Given the description of an element on the screen output the (x, y) to click on. 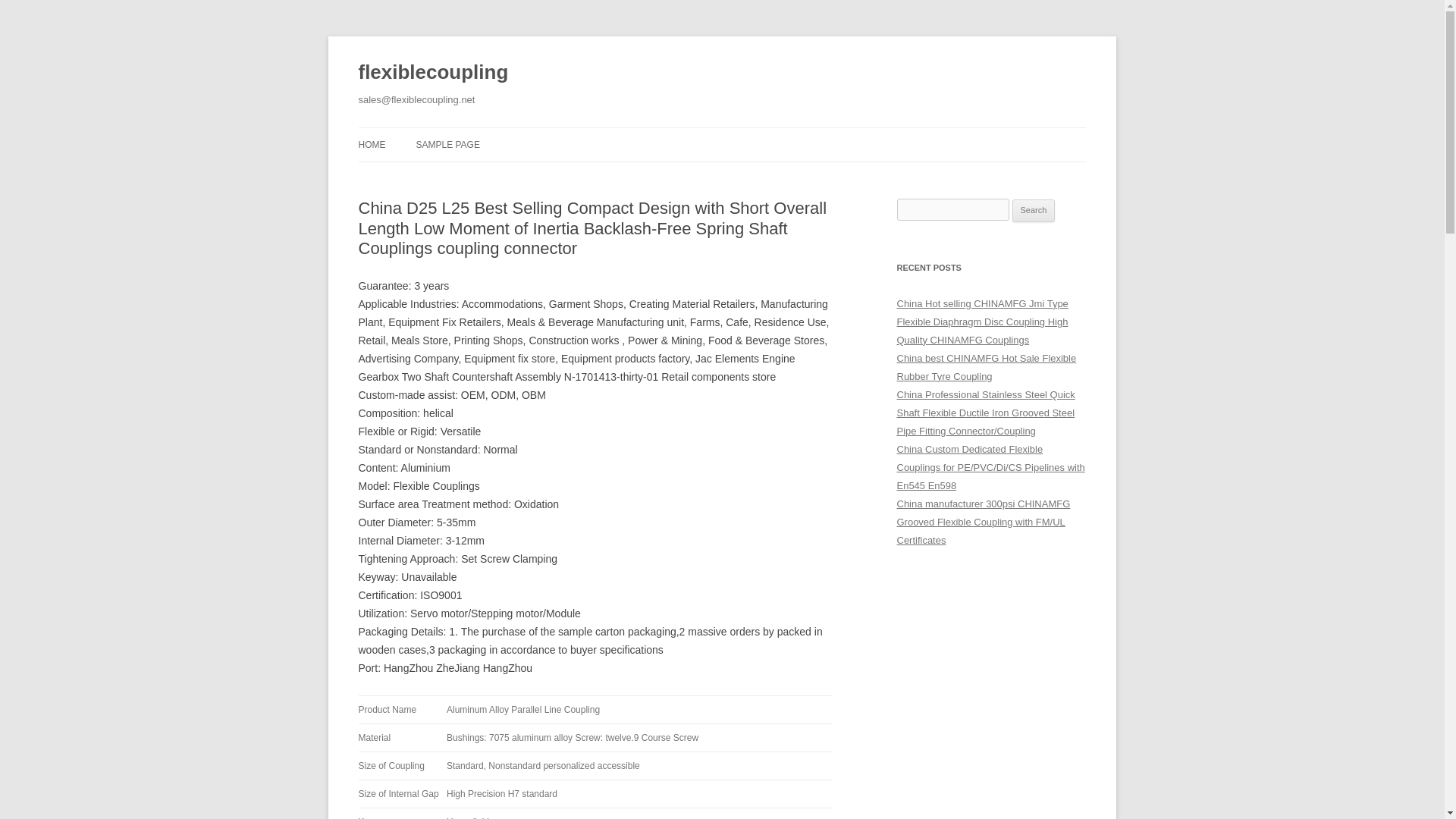
flexiblecoupling (433, 72)
flexiblecoupling (433, 72)
SAMPLE PAGE (446, 144)
China best CHINAMFG Hot Sale Flexible Rubber Tyre Coupling (985, 367)
Search (1033, 210)
Search (1033, 210)
